Given the description of an element on the screen output the (x, y) to click on. 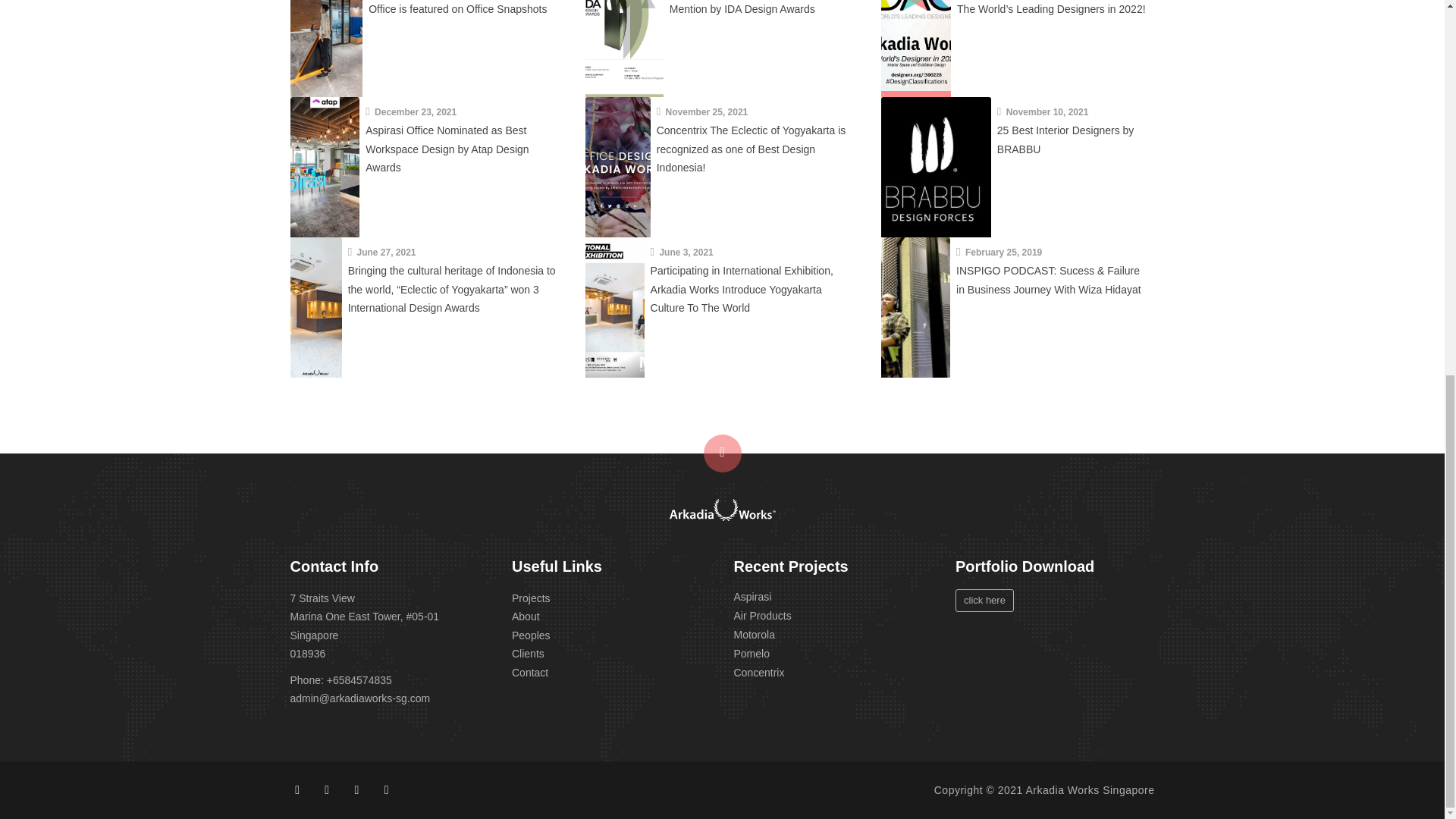
Arkadia Works Awarded Honorable Mention by IDA Design Awards (751, 7)
25 Best Interior Designers by BRABBU (935, 167)
Peoples (531, 635)
Instagram (327, 789)
Aspirasi (752, 595)
Clients (528, 653)
Youtube (385, 789)
25 Best Interior Designers by BRABBU (1065, 139)
Contact (530, 671)
About (526, 616)
LinkedIn (356, 789)
